Given the description of an element on the screen output the (x, y) to click on. 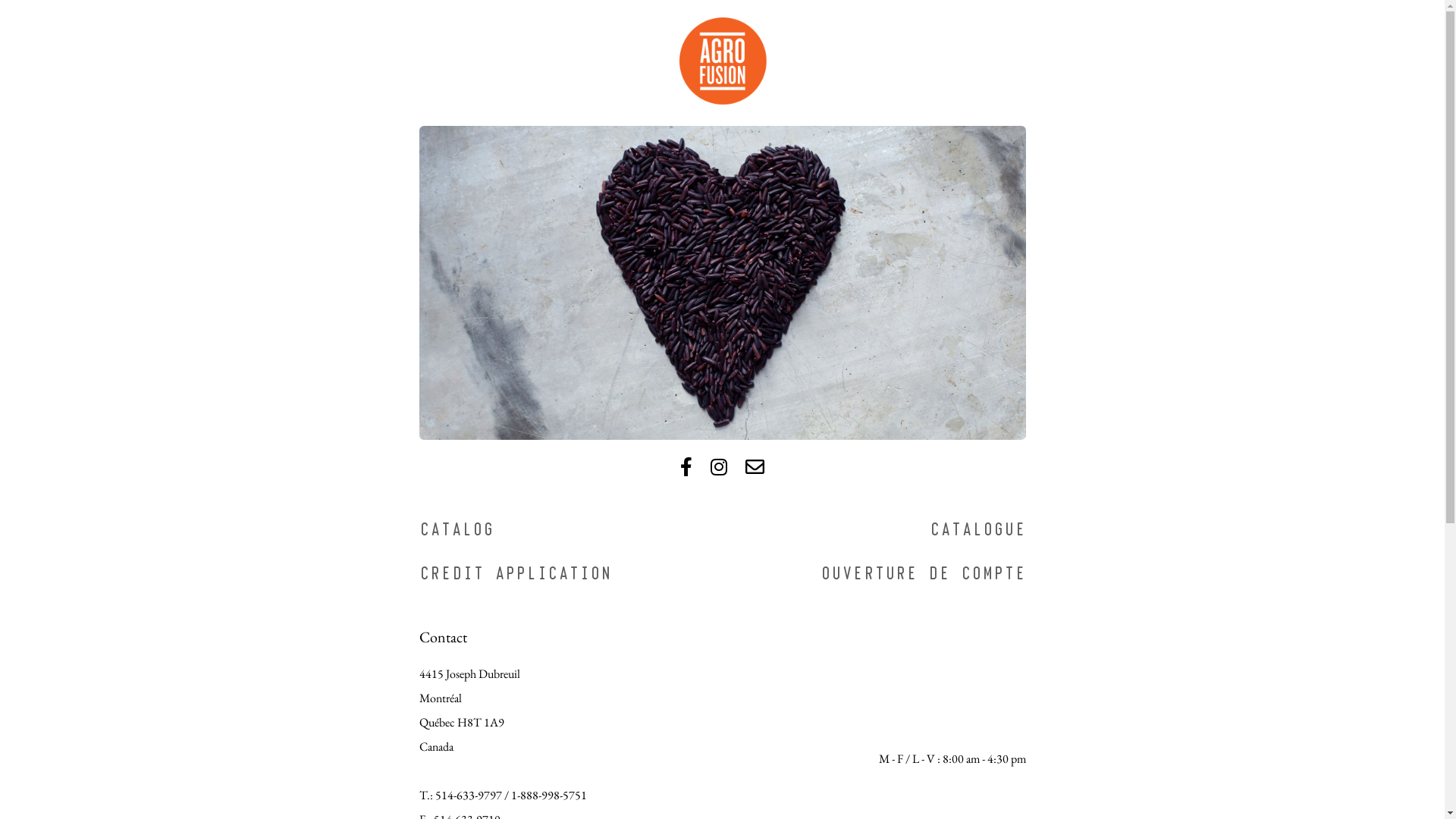
Catalog Element type: text (455, 530)
514-633-9797 Element type: text (468, 795)
1-888-998-5751 Element type: text (548, 795)
Instagram Element type: hover (718, 467)
Catalogue Element type: text (977, 530)
Ouverture de compte Element type: text (923, 574)
Email Element type: hover (754, 467)
Credit Application Element type: text (514, 574)
Facebook Element type: hover (686, 467)
